Given the description of an element on the screen output the (x, y) to click on. 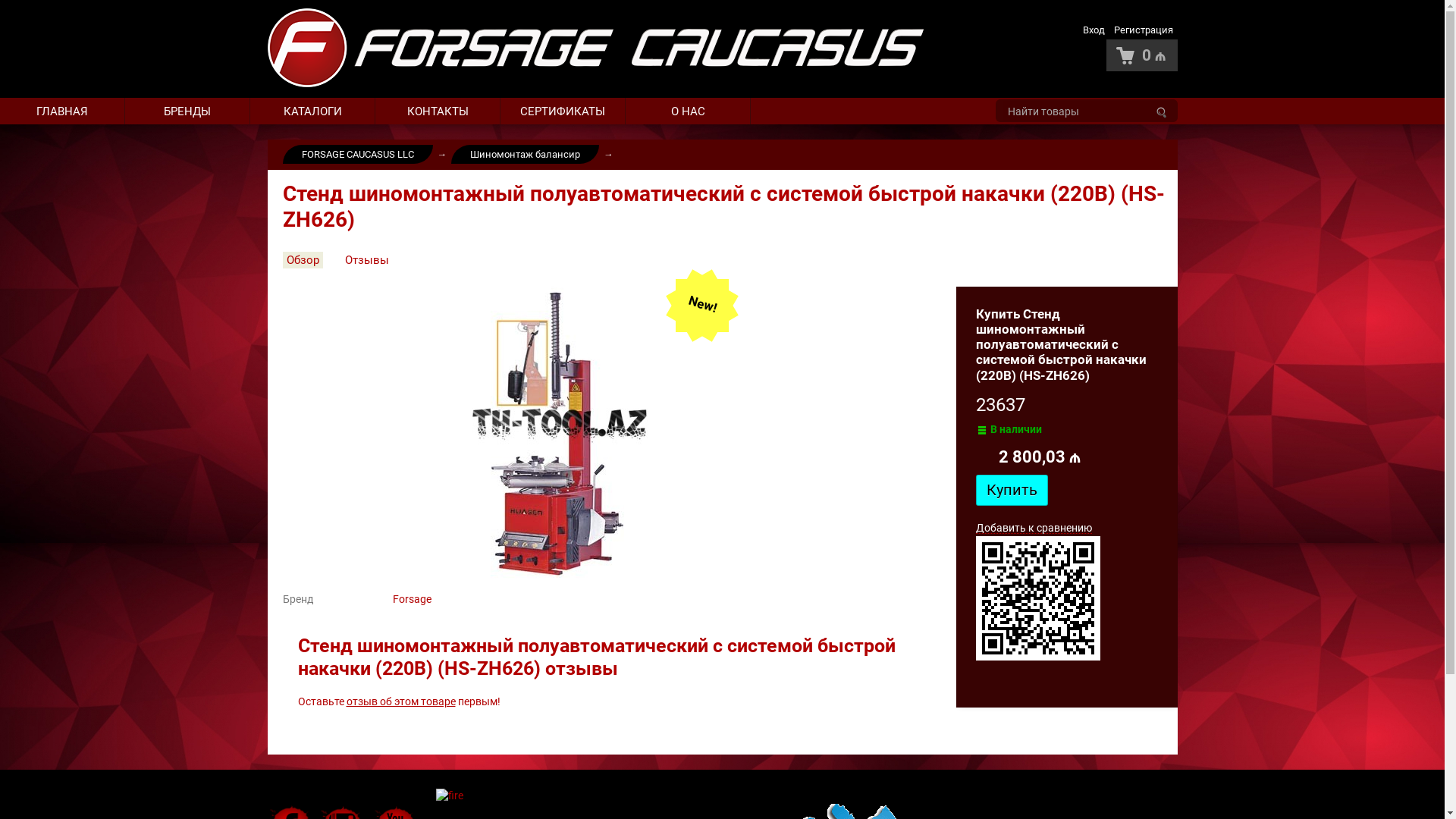
FORSAGE CAUCASUS LLC Element type: text (357, 153)
